Given the description of an element on the screen output the (x, y) to click on. 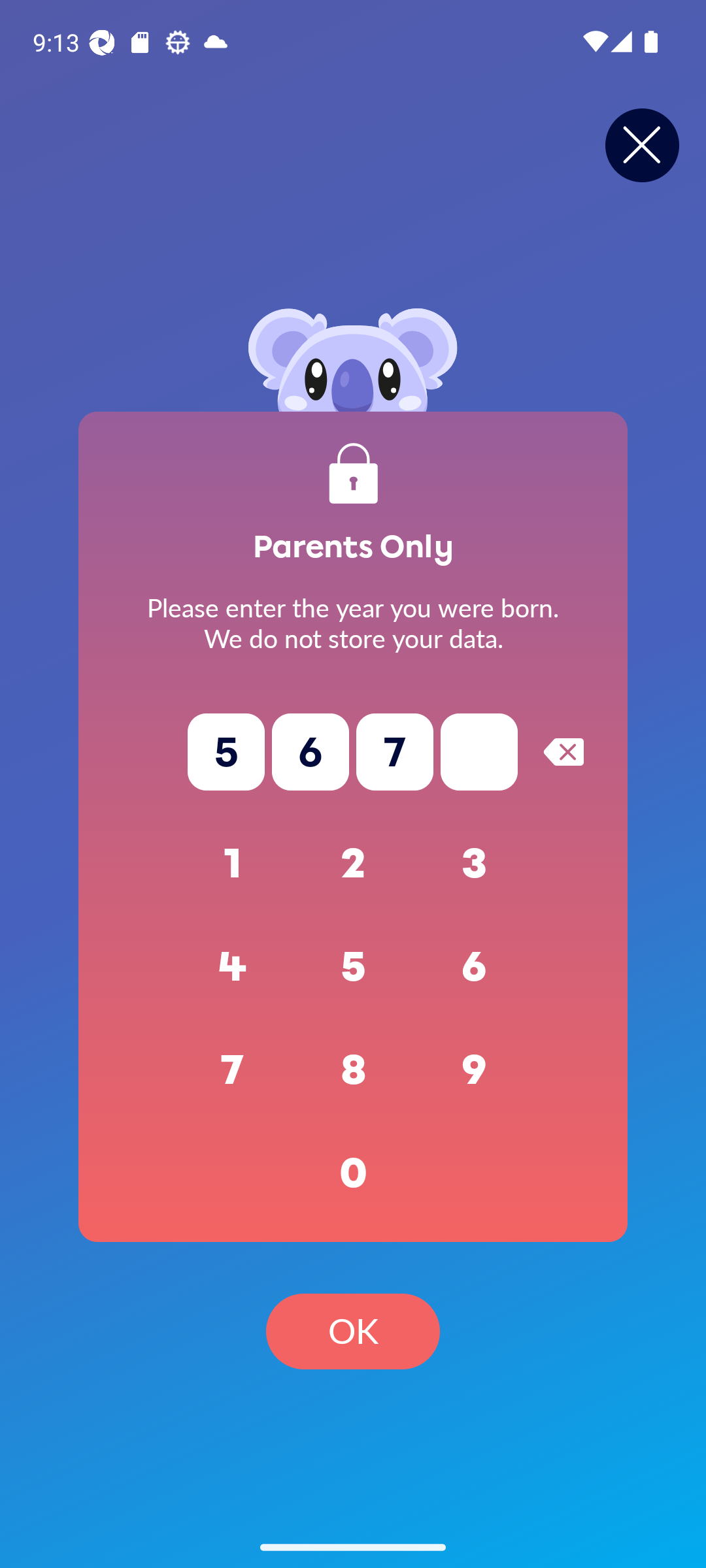
Delete (563, 751)
1 (232, 863)
2 (353, 863)
3 (474, 863)
4 (232, 966)
5 (353, 966)
6 (474, 966)
7 (232, 1069)
8 (353, 1069)
9 (474, 1069)
0 (353, 1173)
OK (352, 1331)
